Given the description of an element on the screen output the (x, y) to click on. 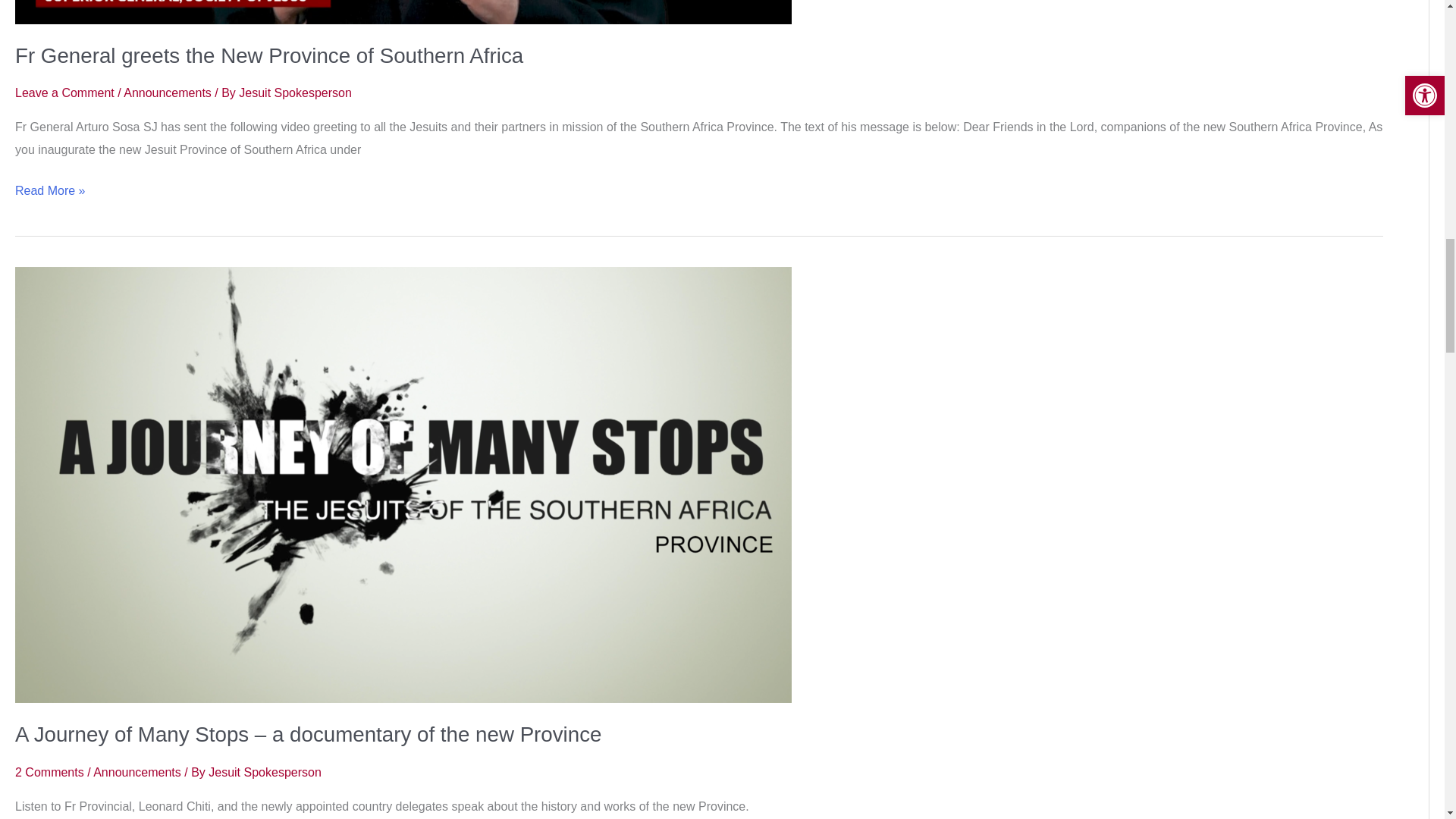
View all posts by Jesuit Spokesperson (264, 771)
View all posts by Jesuit Spokesperson (295, 92)
